Given the description of an element on the screen output the (x, y) to click on. 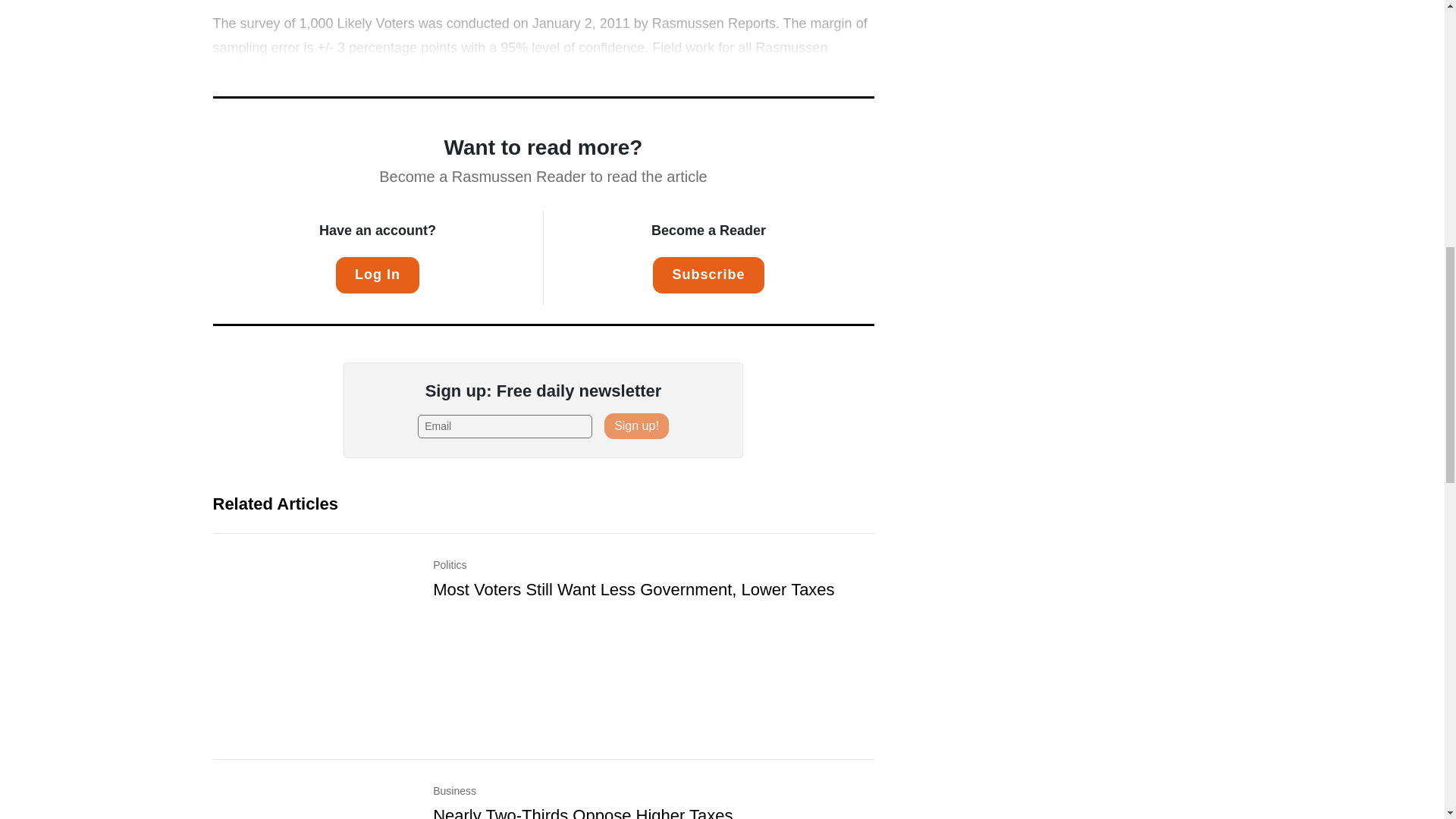
methodology (667, 71)
Pulse Opinion Research, LLC (503, 71)
Business (652, 801)
Nearly Two-Thirds Oppose Higher Taxes (582, 812)
Sign up! (636, 425)
Politics (652, 577)
Log In (377, 275)
Most Voters Still Want Less Government, Lower Taxes (633, 588)
Subscribe (707, 275)
